Given the description of an element on the screen output the (x, y) to click on. 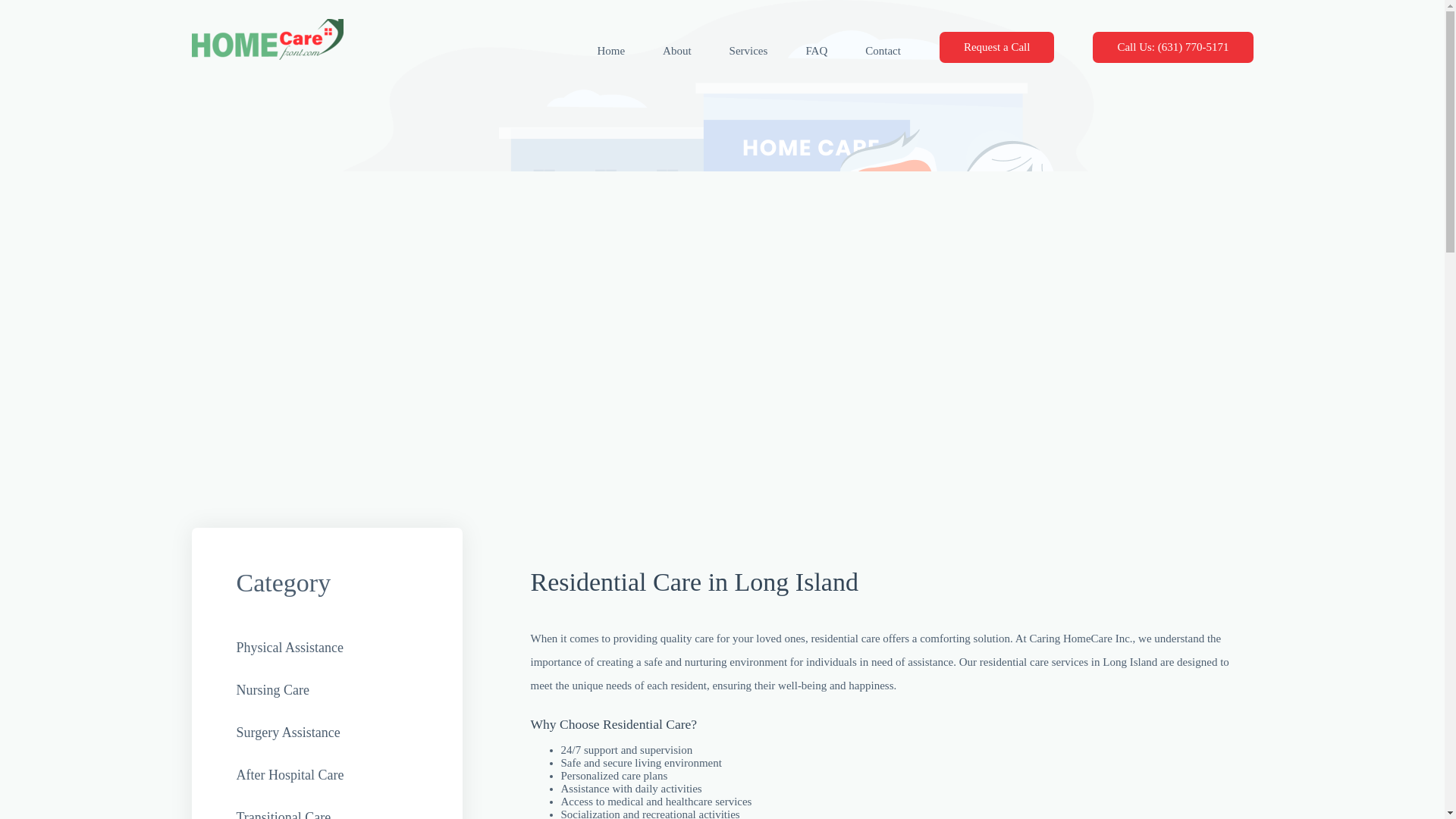
Contact (864, 51)
Physical Assistance (289, 647)
Surgery Assistance (287, 732)
Nursing Care (271, 689)
Home (591, 51)
About (657, 51)
FAQ (797, 51)
Services (729, 51)
